Given the description of an element on the screen output the (x, y) to click on. 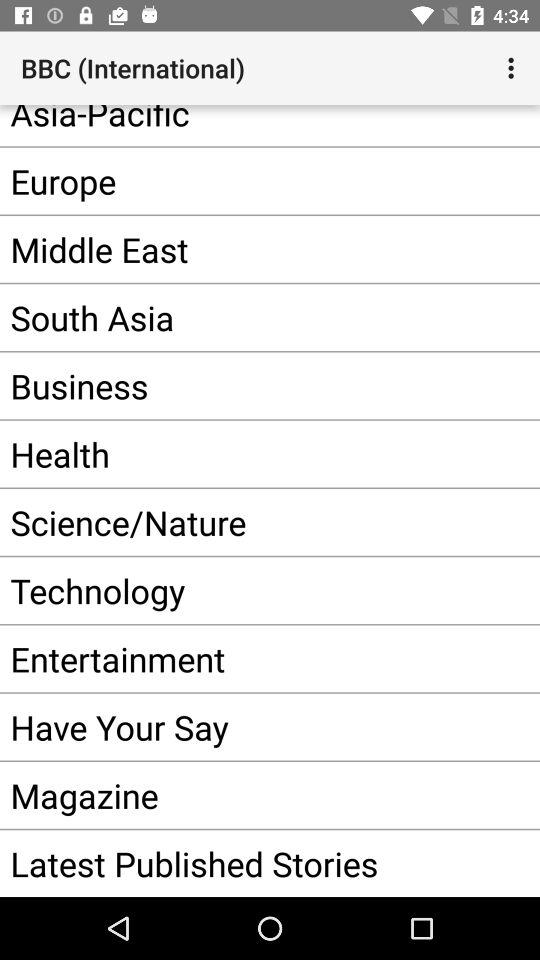
press the app below health item (240, 521)
